Given the description of an element on the screen output the (x, y) to click on. 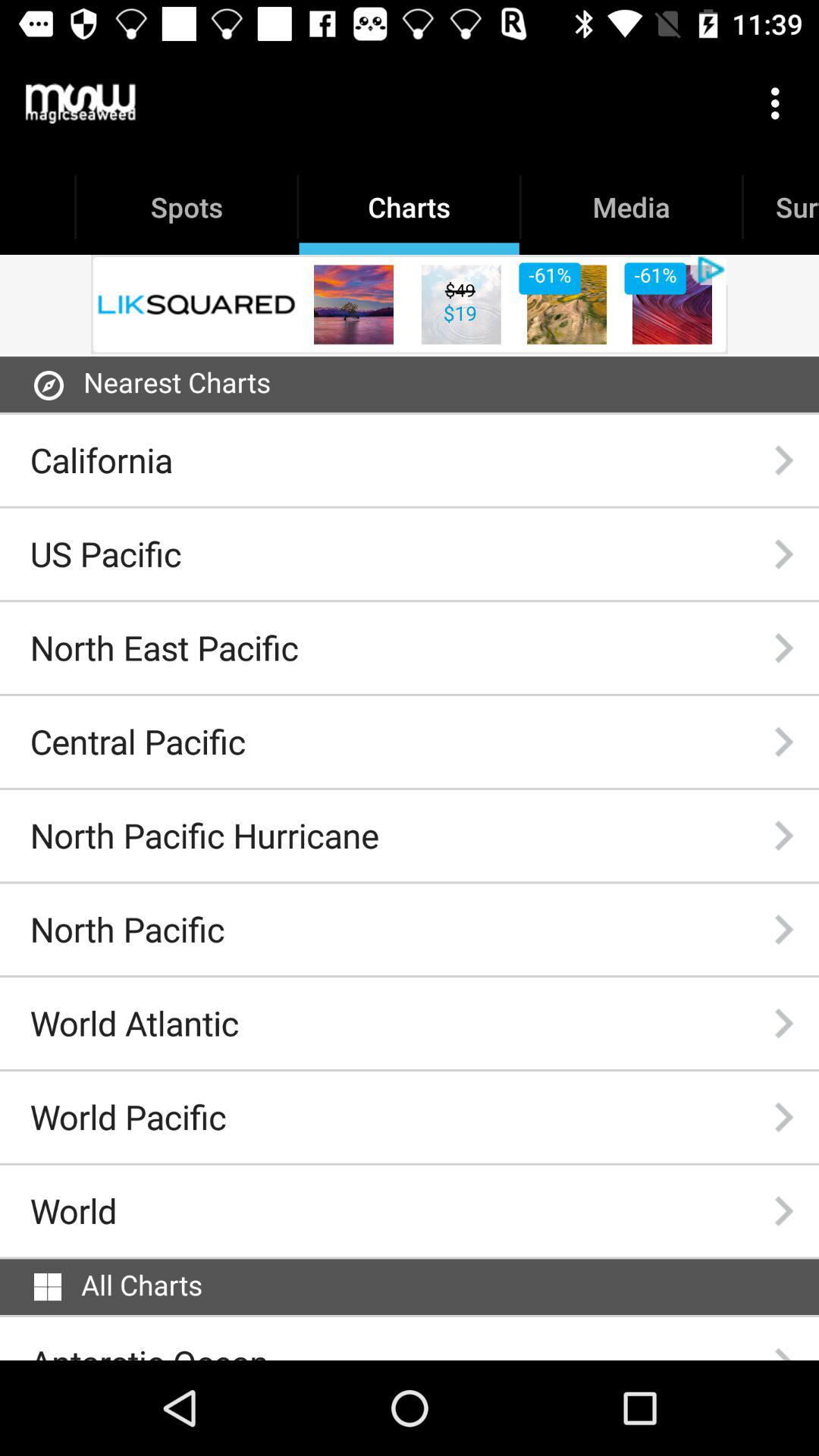
press the item to the left of the charts (80, 103)
